Given the description of an element on the screen output the (x, y) to click on. 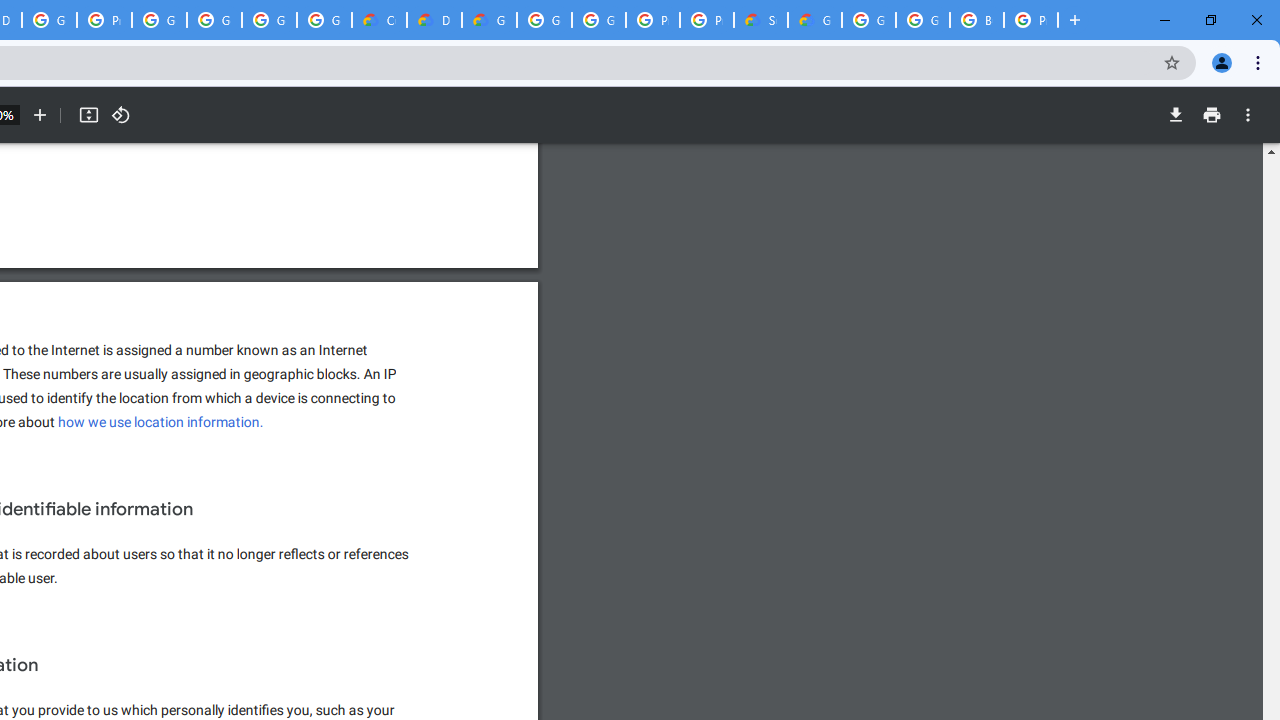
Google Cloud Platform (544, 20)
